Given the description of an element on the screen output the (x, y) to click on. 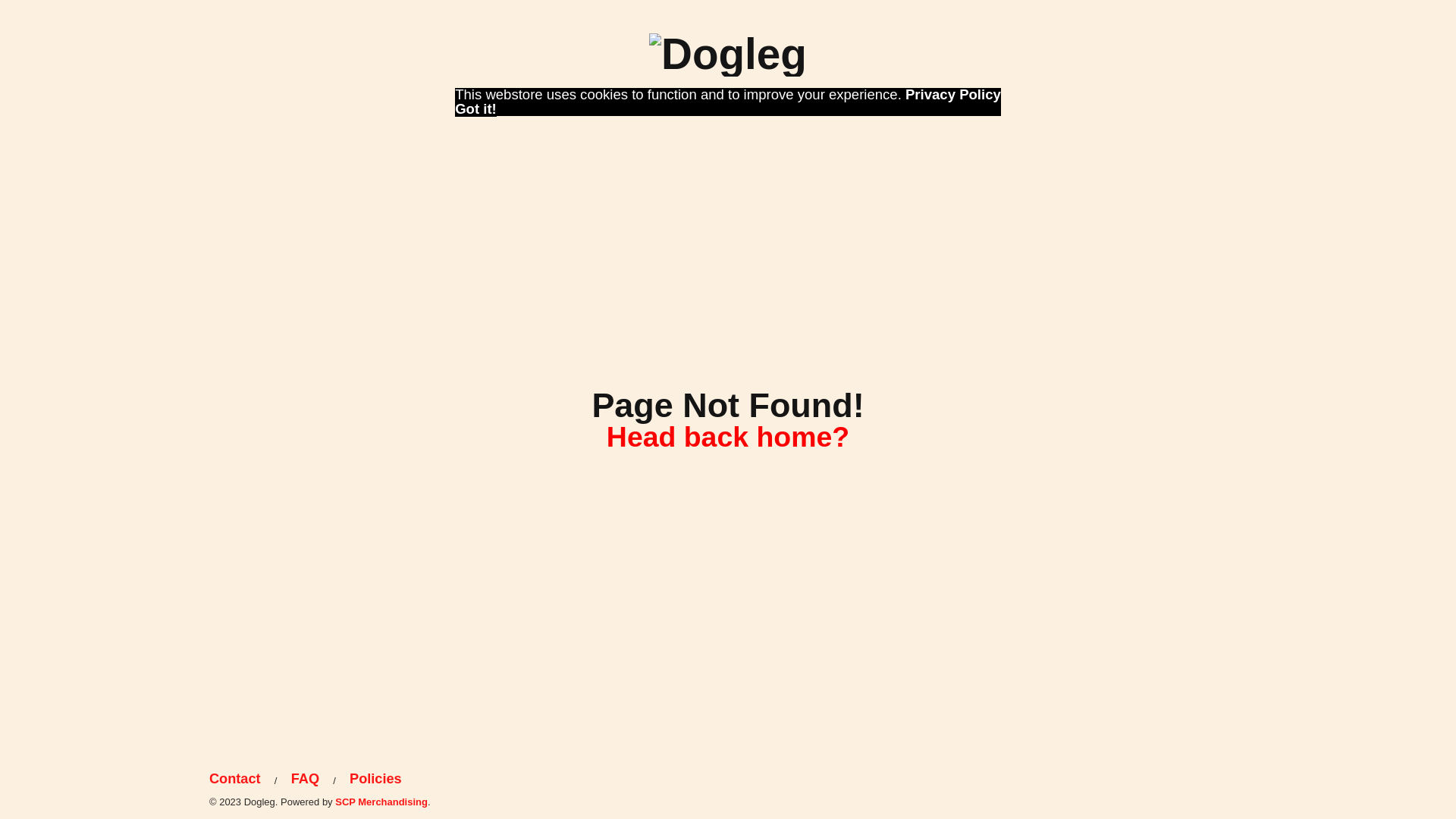
Policies Element type: text (375, 779)
FAQ Element type: text (304, 779)
SCP Merchandising Element type: text (381, 801)
Head back home? Element type: text (727, 436)
Privacy Policy Element type: text (953, 94)
Got it! Element type: text (475, 108)
Contact Element type: text (240, 779)
